Given the description of an element on the screen output the (x, y) to click on. 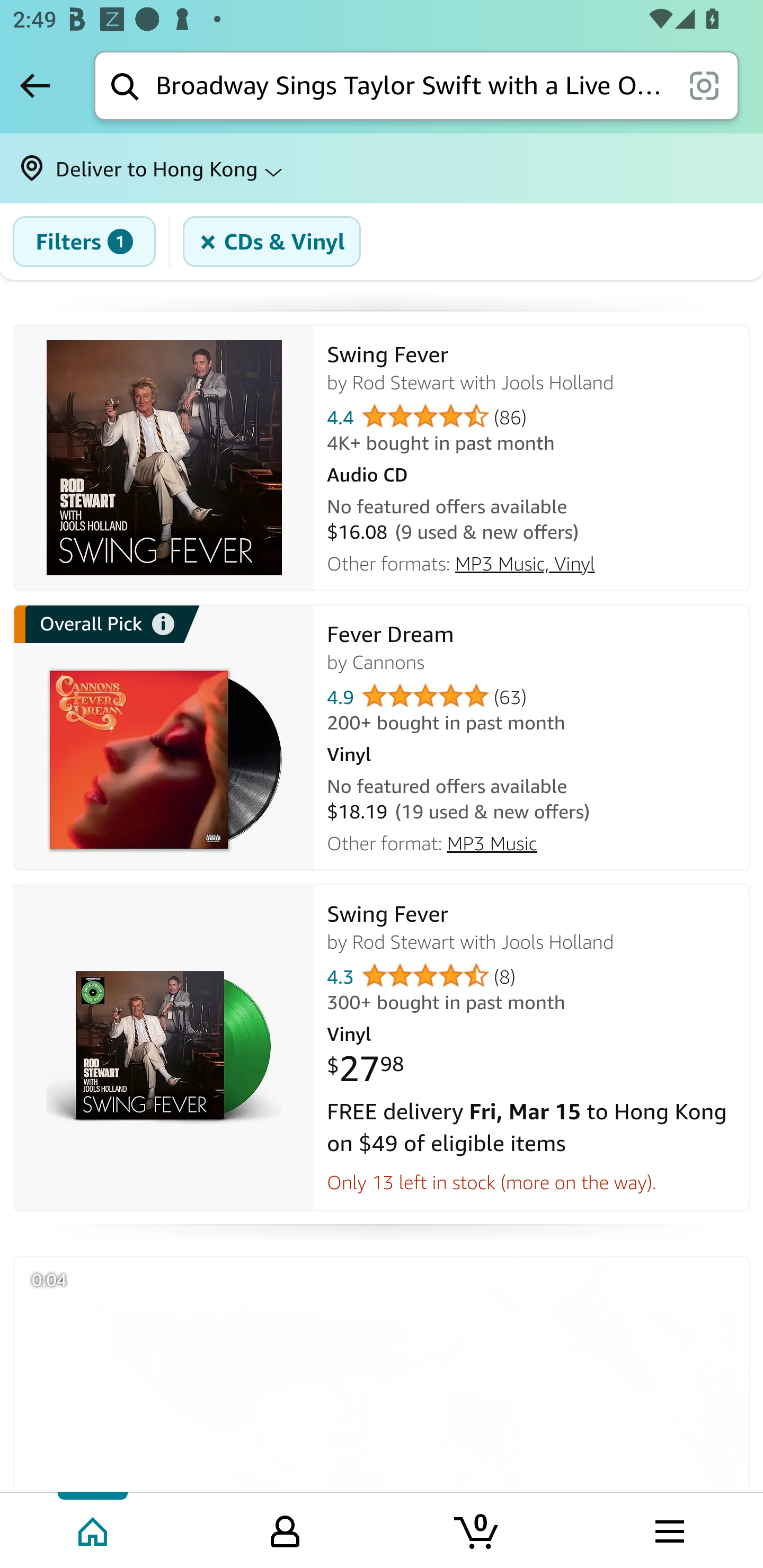
Back (35, 85)
scan it (704, 85)
Deliver to Hong Kong ⌵ (381, 168)
Filters 1 (83, 241)
× CDs & Vinyl × CDs & Vinyl (272, 241)
Swing Fever (164, 457)
Fever Dream by Cannons Fever Dream by  Cannons (532, 646)
Swing Fever (164, 1047)
Home Tab 1 of 4 (94, 1529)
Your Amazon.com Tab 2 of 4 (285, 1529)
Cart 0 item Tab 3 of 4 0 (477, 1529)
Browse menu Tab 4 of 4 (668, 1529)
